Given the description of an element on the screen output the (x, y) to click on. 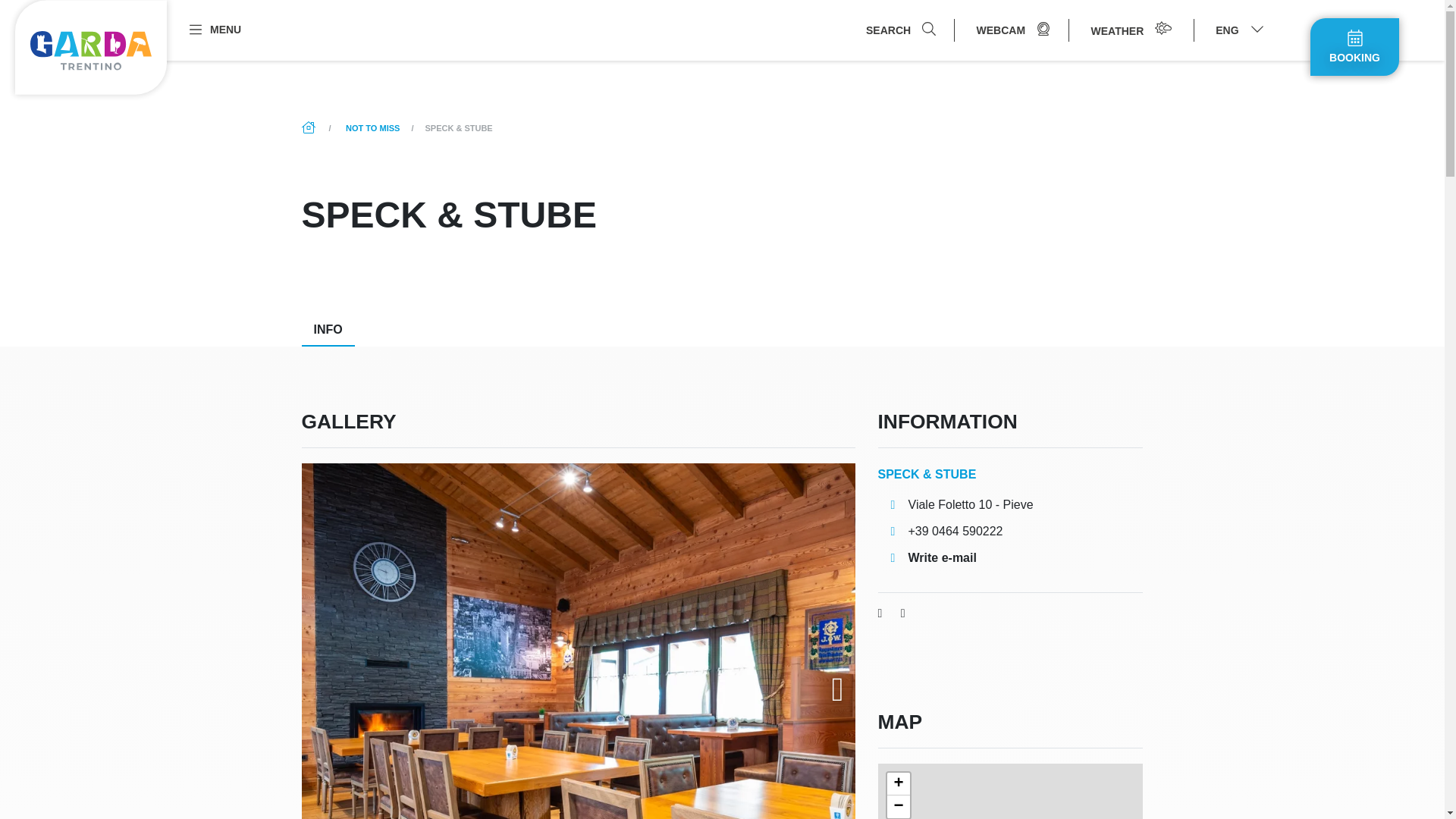
BOOKING (1354, 47)
WEATHER (1132, 30)
Zoom out (898, 806)
Write e-mail (926, 558)
Zoom in (898, 784)
WEBCAM (1013, 29)
MENU (214, 29)
INFO (328, 330)
NOT TO MISS (372, 127)
SEARCH (900, 29)
